Given the description of an element on the screen output the (x, y) to click on. 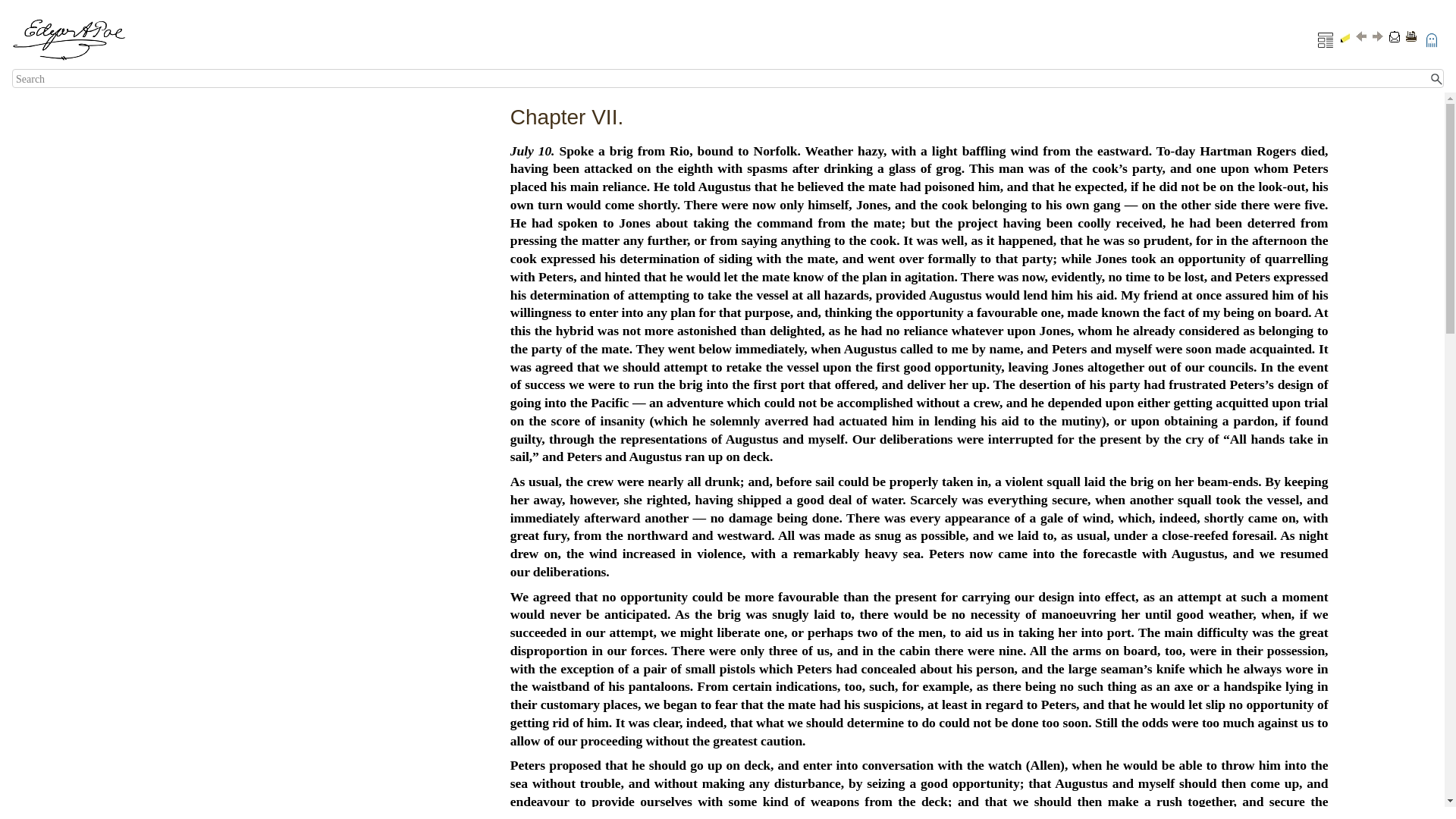
Forward (1378, 36)
Send your feedback (1394, 36)
Show hoax text (1431, 40)
Hide TOC (1325, 40)
Back (1361, 36)
Print this section (1411, 36)
